Given the description of an element on the screen output the (x, y) to click on. 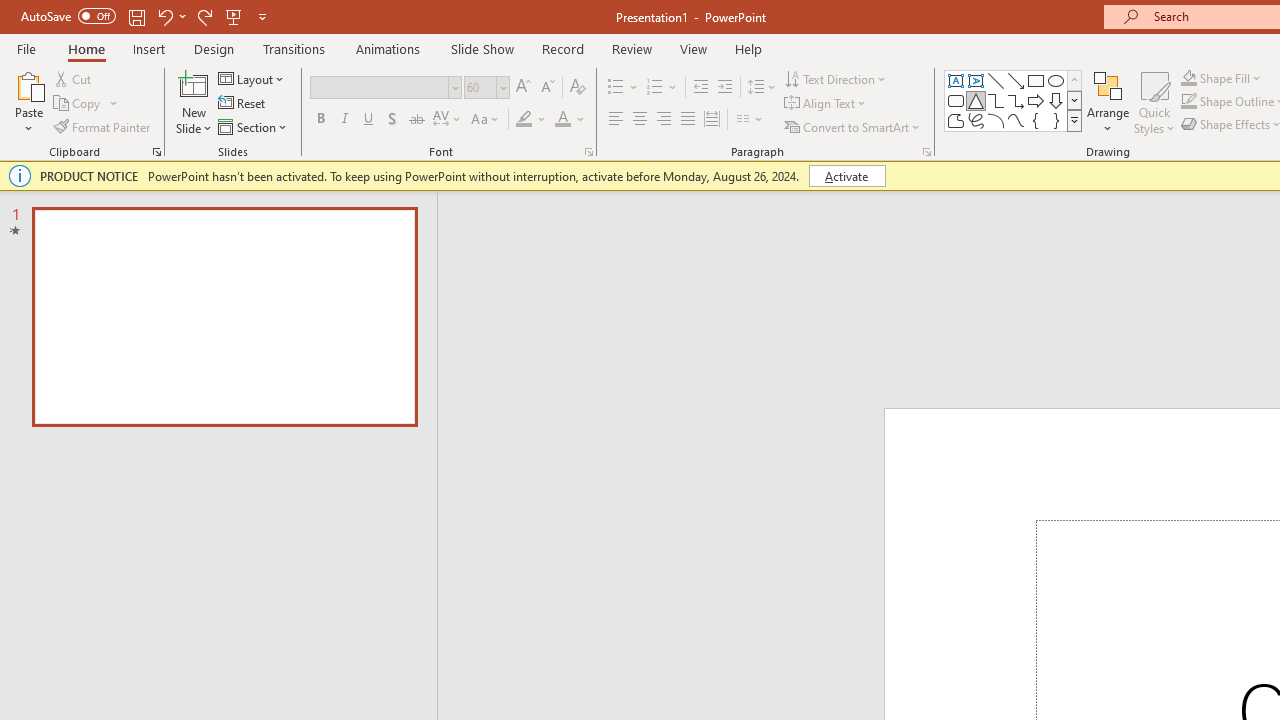
Office Clipboard... (156, 151)
Line (995, 80)
Oval (1055, 80)
Decrease Indent (700, 87)
Italic (344, 119)
Section (254, 126)
Shadow (392, 119)
Increase Indent (725, 87)
